Given the description of an element on the screen output the (x, y) to click on. 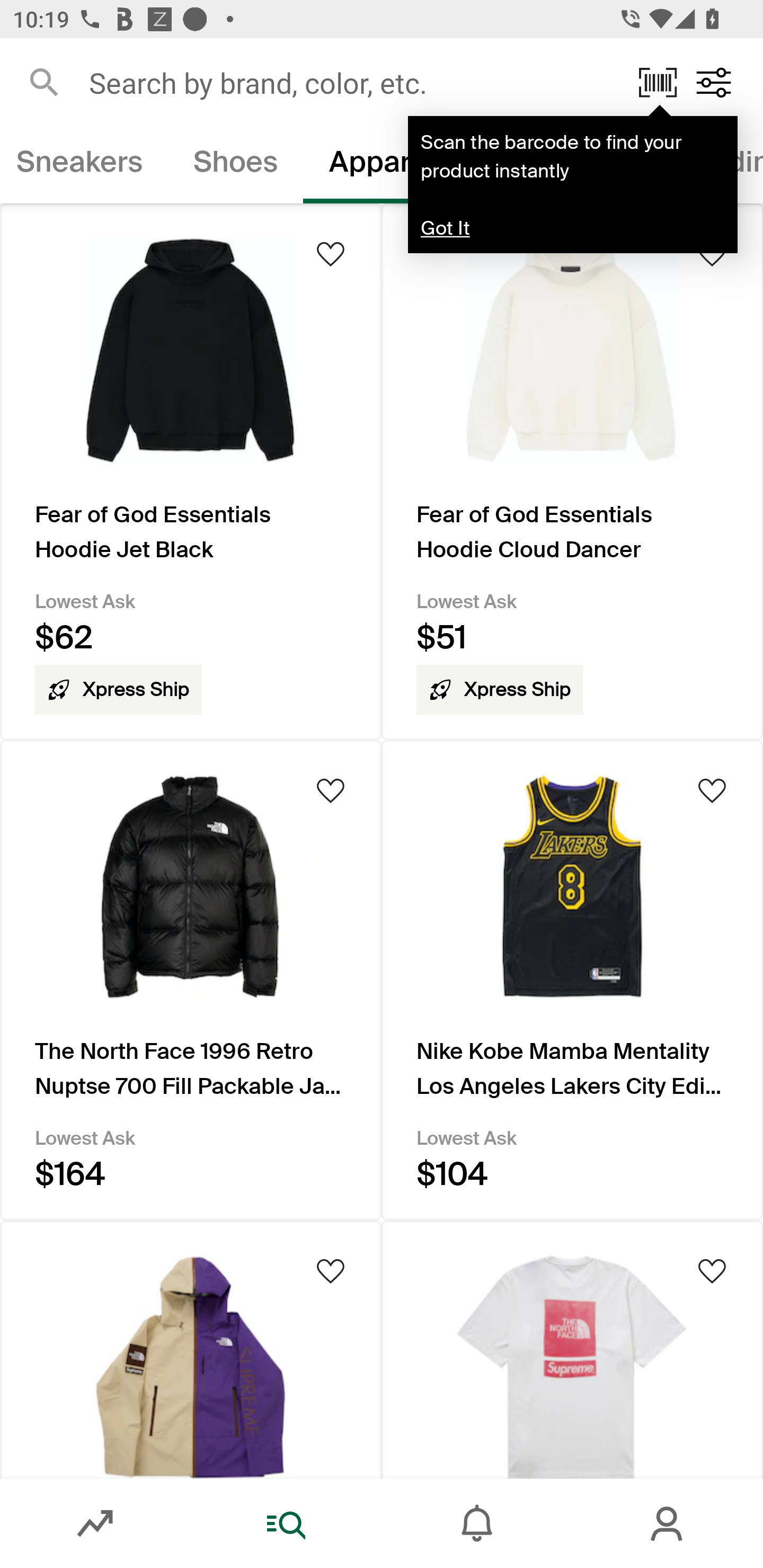
Search by brand, color, etc. (351, 82)
Sneakers (83, 165)
Shoes (234, 165)
Product Image (190, 1348)
Product Image (572, 1348)
Market (95, 1523)
Inbox (476, 1523)
Account (667, 1523)
